Given the description of an element on the screen output the (x, y) to click on. 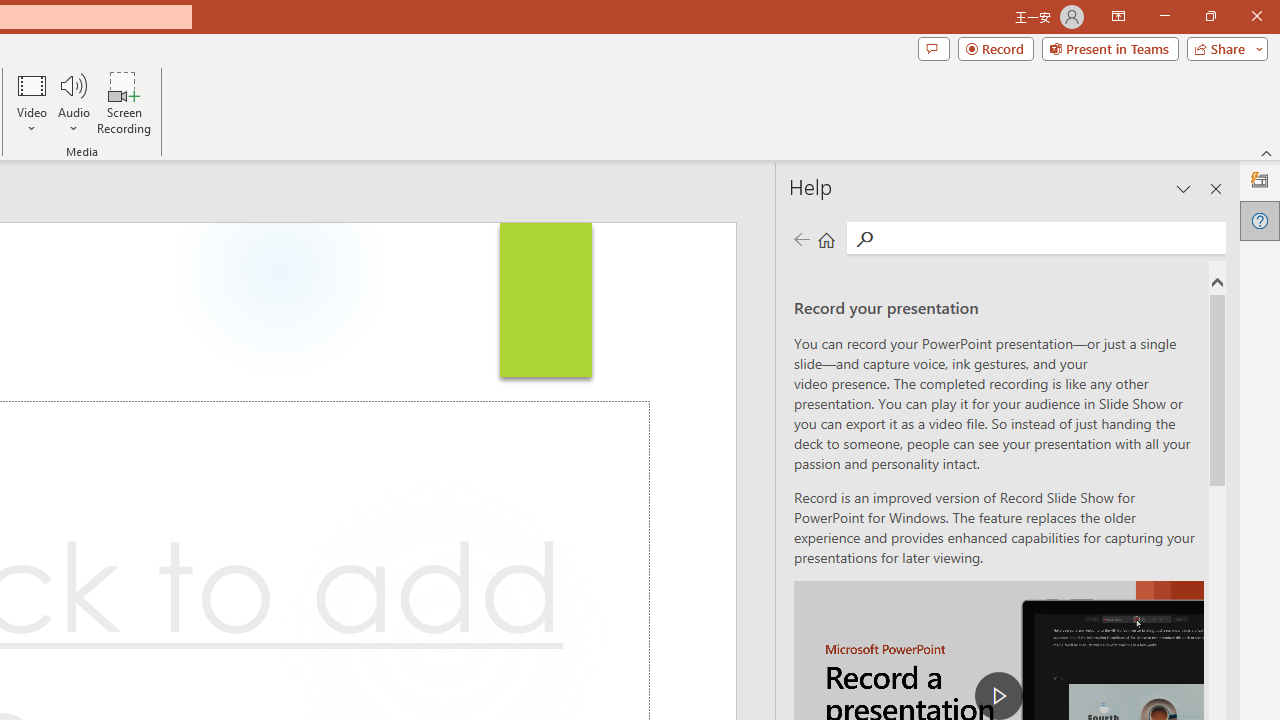
play Record a Presentation (998, 695)
